Given the description of an element on the screen output the (x, y) to click on. 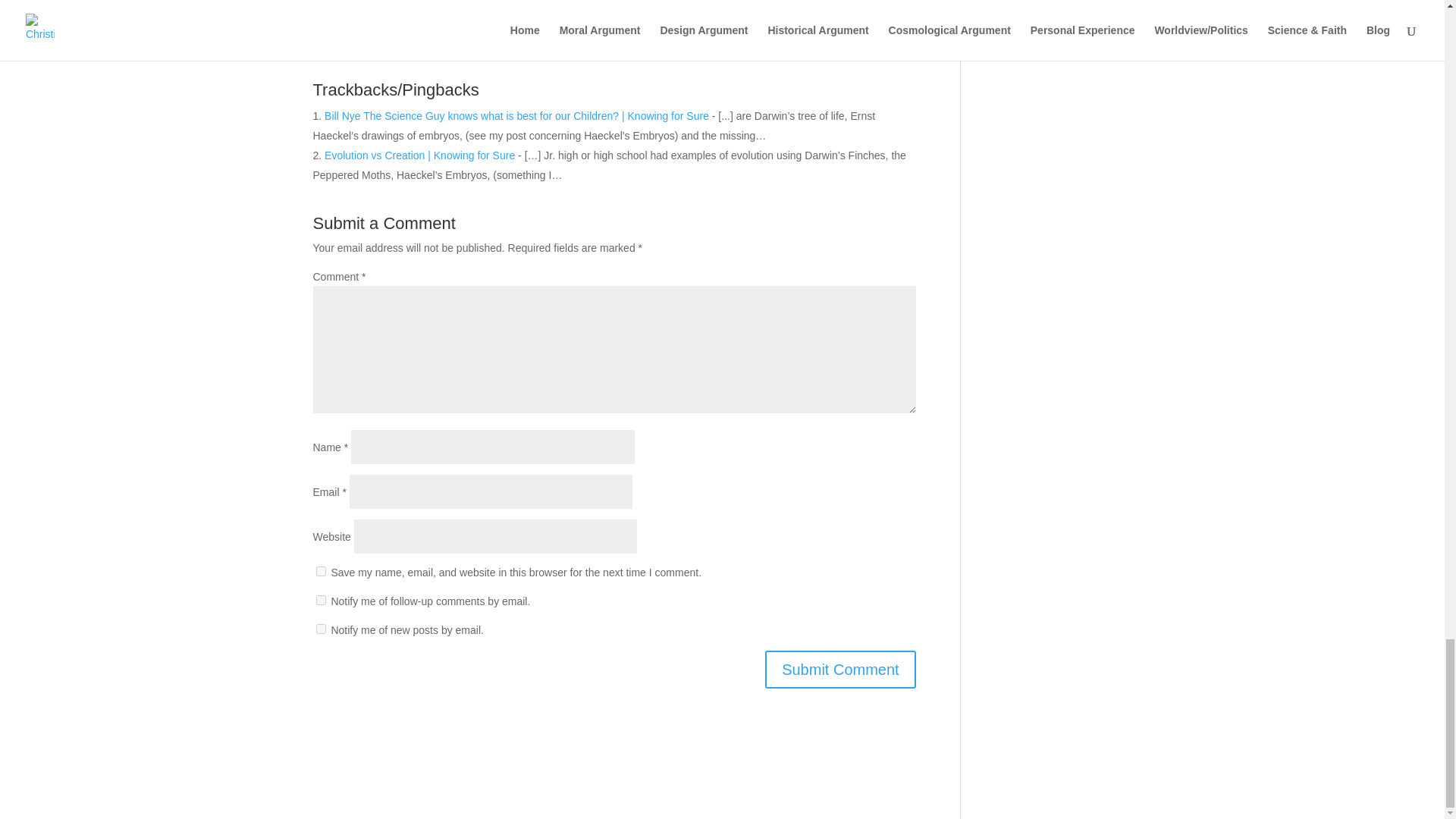
Submit Comment (840, 669)
subscribe (319, 628)
yes (319, 571)
subscribe (319, 600)
